Given the description of an element on the screen output the (x, y) to click on. 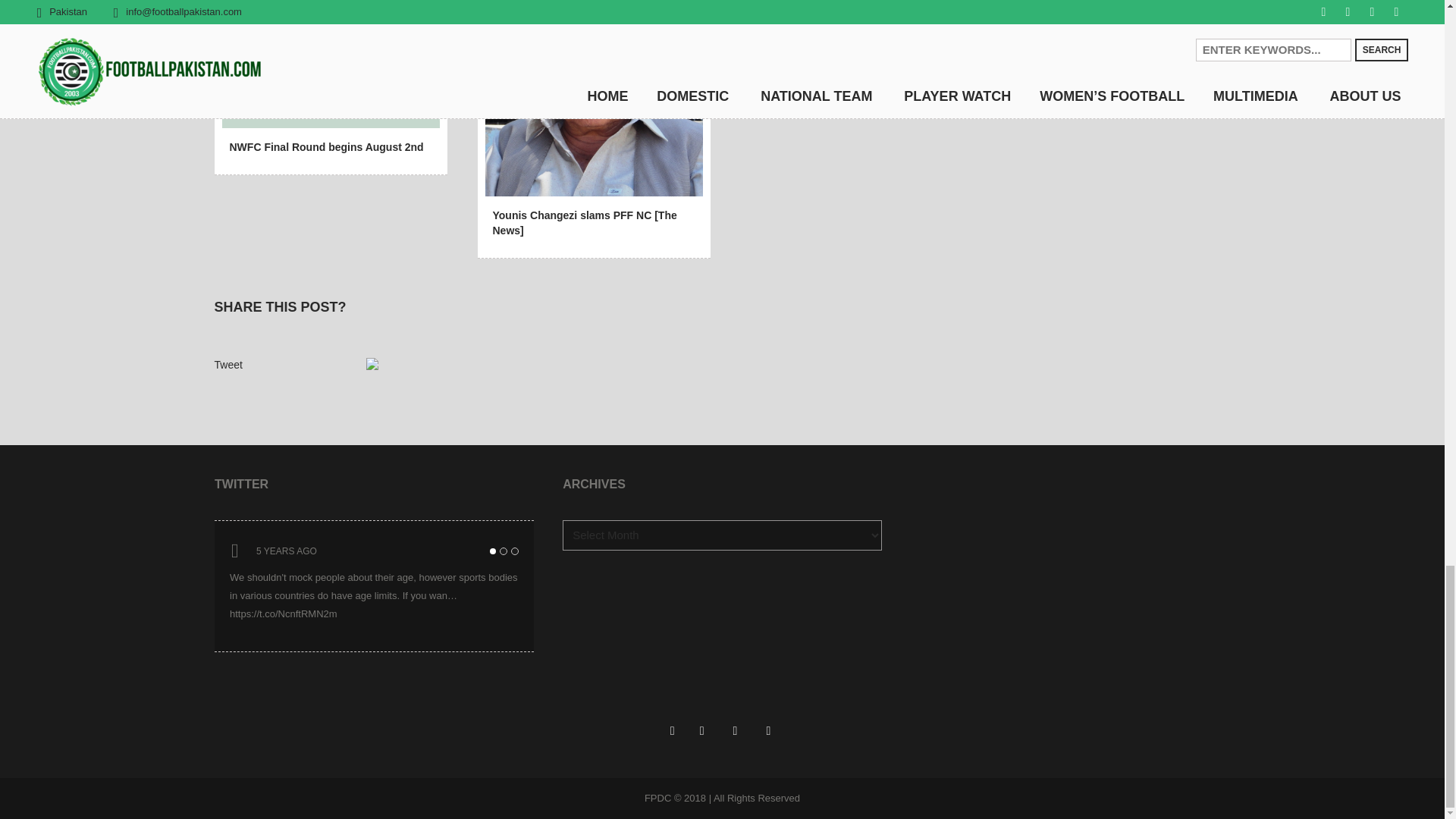
NWFC Final Round begins August 2nd (324, 62)
NWFC Final Round begins August 2nd (330, 60)
NWFC Final Round begins August 2nd (325, 146)
